Given the description of an element on the screen output the (x, y) to click on. 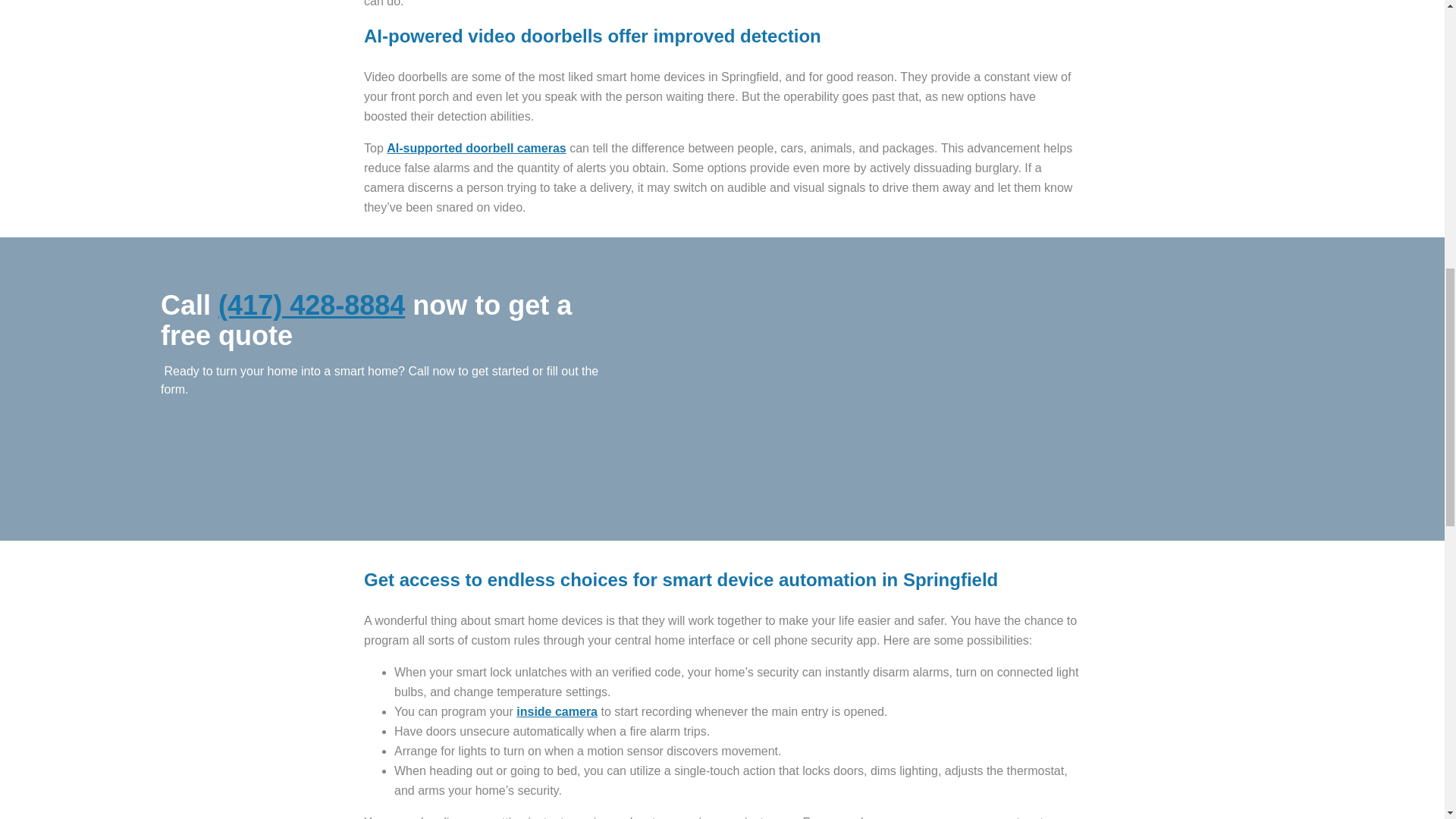
AI-supported doorbell cameras (476, 147)
Indoor camera (556, 711)
inside camera (556, 711)
AI-powered doorbell cameras (476, 147)
